Given the description of an element on the screen output the (x, y) to click on. 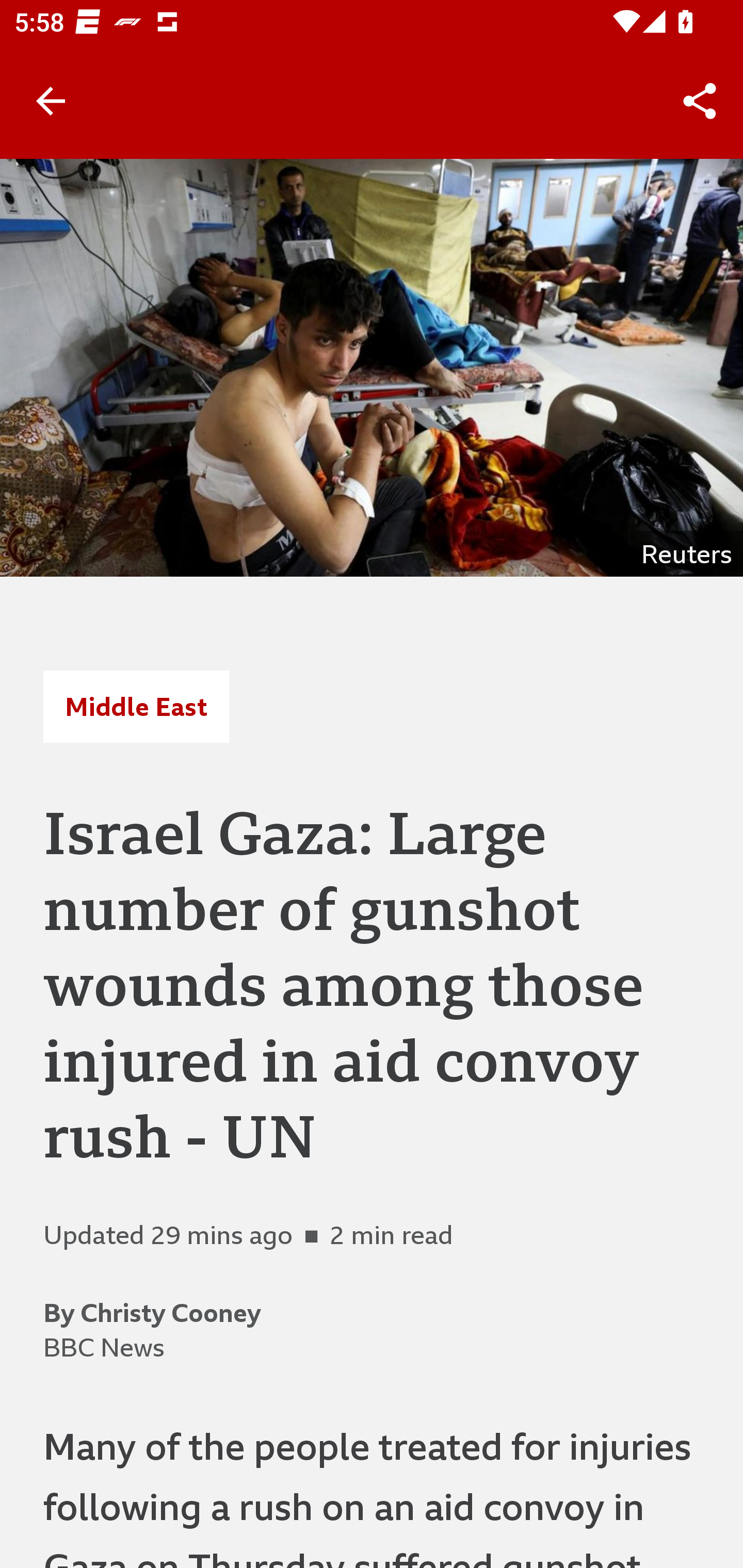
Back (50, 101)
Share (699, 101)
Middle East (135, 706)
